Given the description of an element on the screen output the (x, y) to click on. 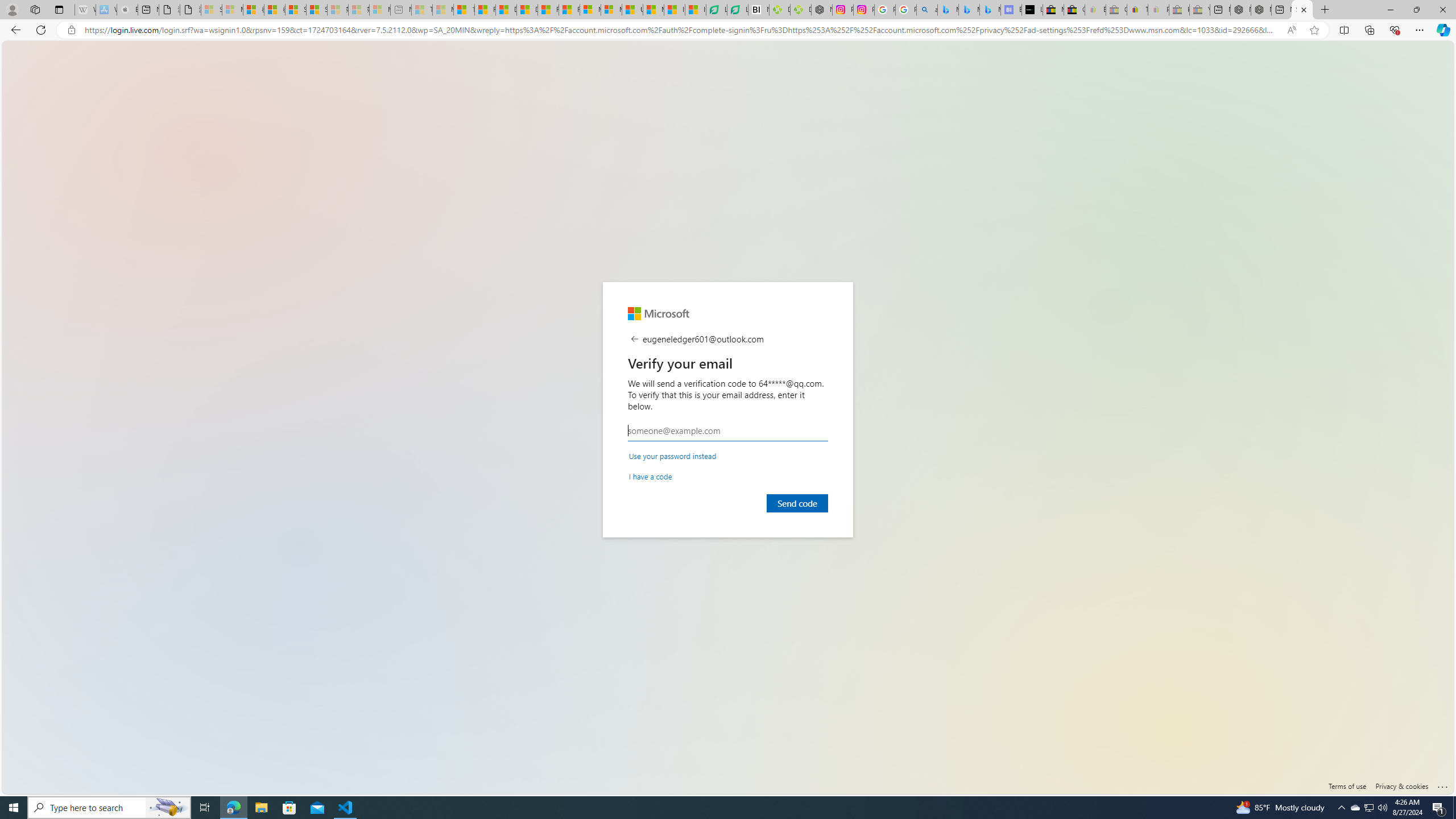
I have a code (650, 475)
Click here for troubleshooting information (1442, 784)
Use your password instead (672, 455)
Top Stories - MSN - Sleeping (421, 9)
Drinking tea every day is proven to delay biological aging (527, 9)
